Given the description of an element on the screen output the (x, y) to click on. 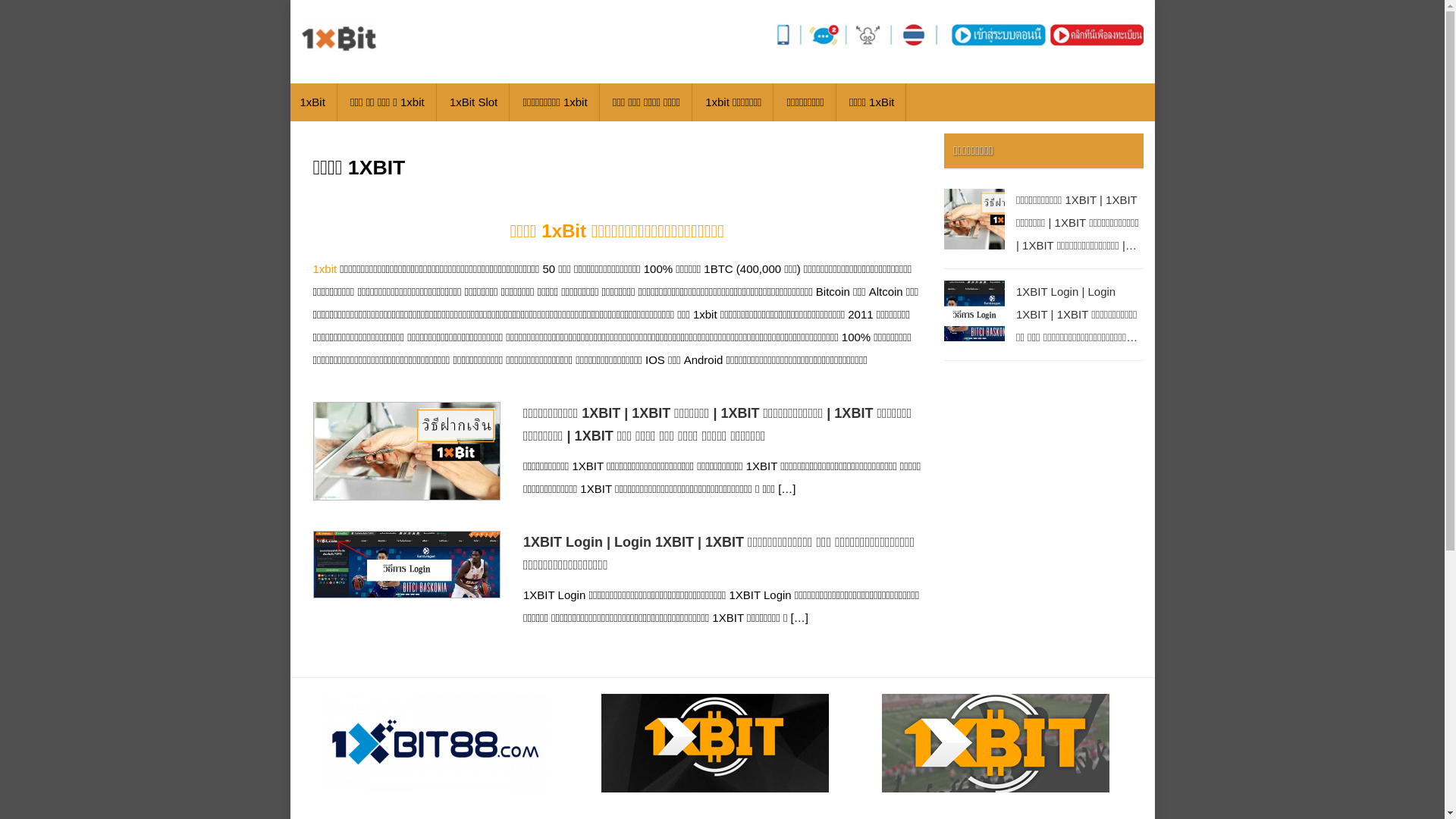
1xbit Element type: text (324, 268)
1xBit Element type: text (312, 102)
1xBit Slot Element type: text (473, 102)
